Given the description of an element on the screen output the (x, y) to click on. 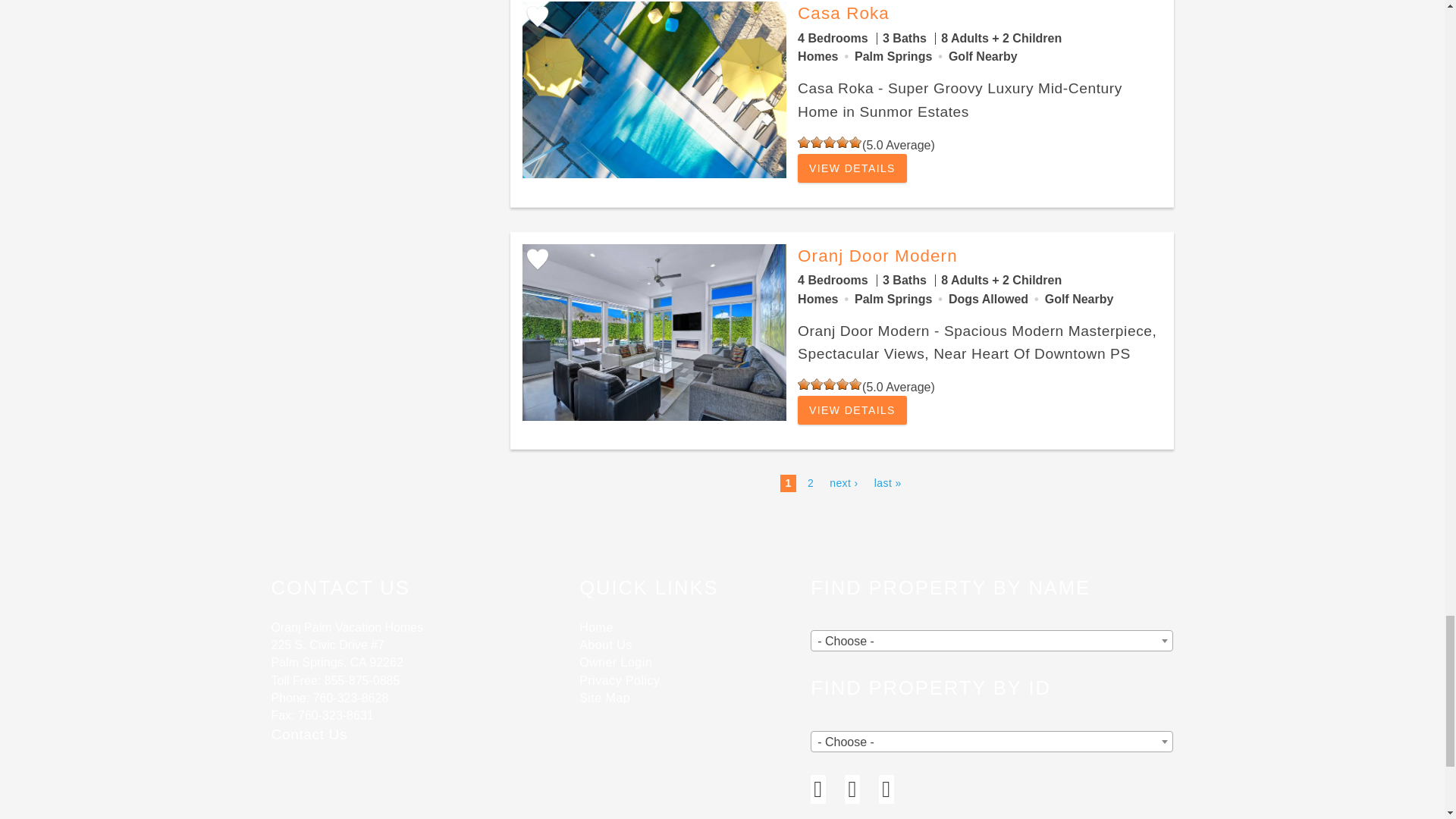
 Add Favorite (536, 16)
Go to last page (887, 483)
Go to next page (844, 483)
Go to page 2 (810, 483)
 Add Favorite (536, 259)
